Given the description of an element on the screen output the (x, y) to click on. 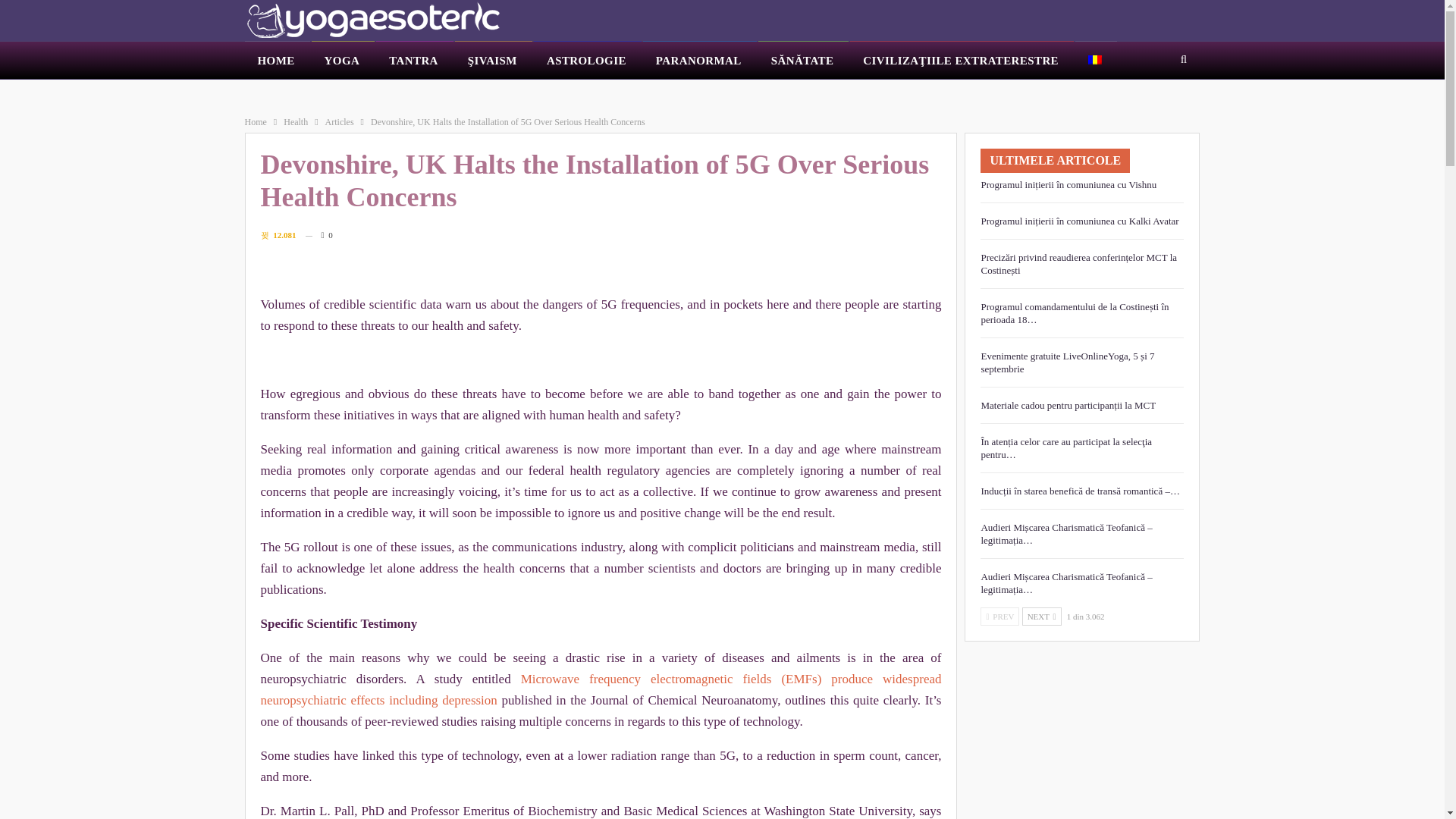
LOGIN (945, 93)
DESPRE NOI (594, 93)
CONTACT (882, 93)
ACTUALITATE (277, 93)
ASTROLOGIE (588, 60)
ARTICOLE RECENTE (291, 122)
HOME (276, 60)
DEMASCAREA MASONERIEI (399, 93)
MISA (822, 93)
YOGA (343, 60)
